Given the description of an element on the screen output the (x, y) to click on. 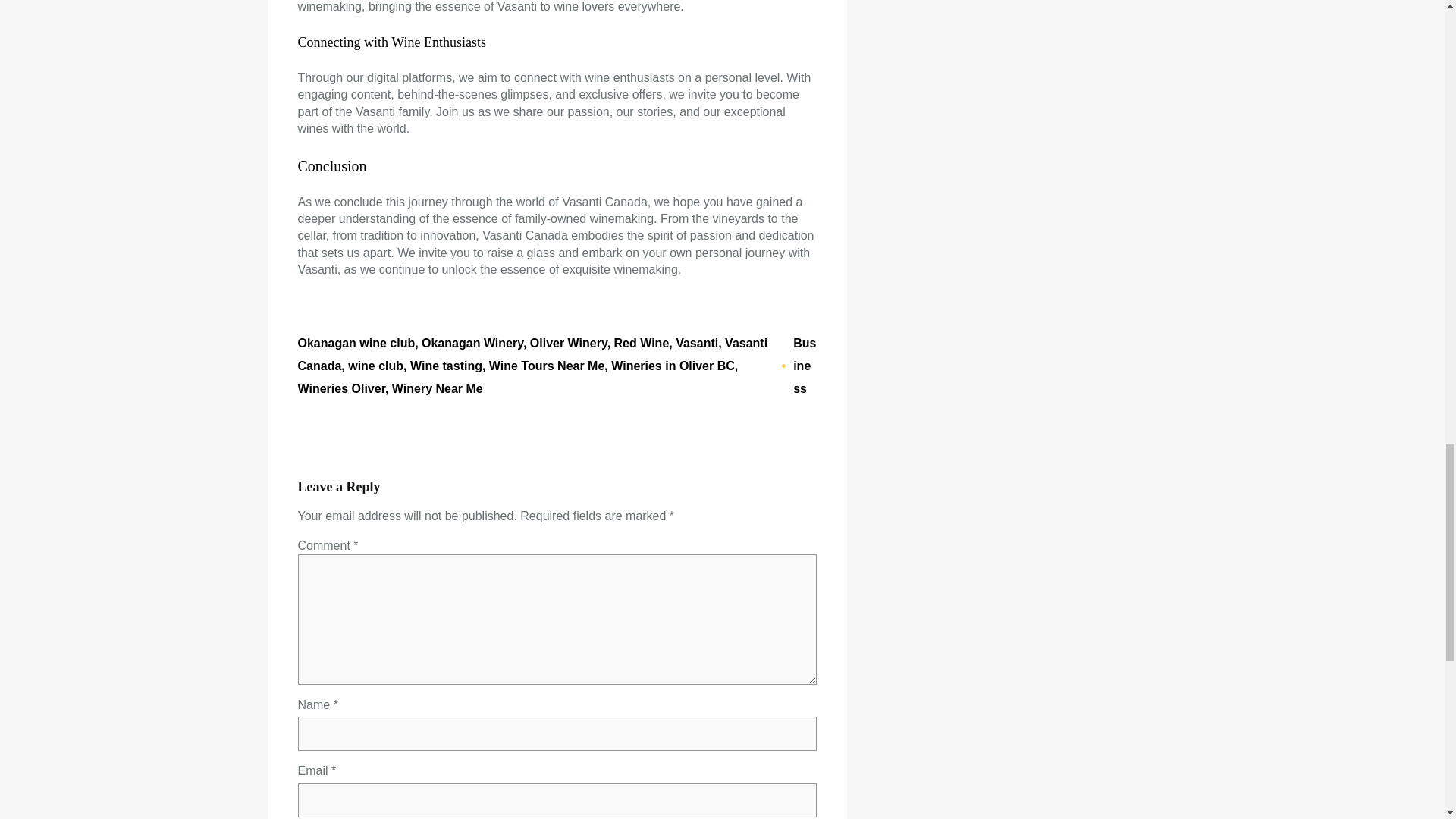
wine club (375, 365)
Okanagan Winery (472, 342)
Wine tasting (445, 365)
Vasanti Canada (532, 354)
Winery Near Me (437, 388)
Red Wine (641, 342)
Wine Tours Near Me (546, 365)
Oliver Winery (568, 342)
Business (804, 365)
Vasanti (696, 342)
Okanagan wine club (355, 342)
Wineries Oliver (340, 388)
Wineries in Oliver BC (673, 365)
